Given the description of an element on the screen output the (x, y) to click on. 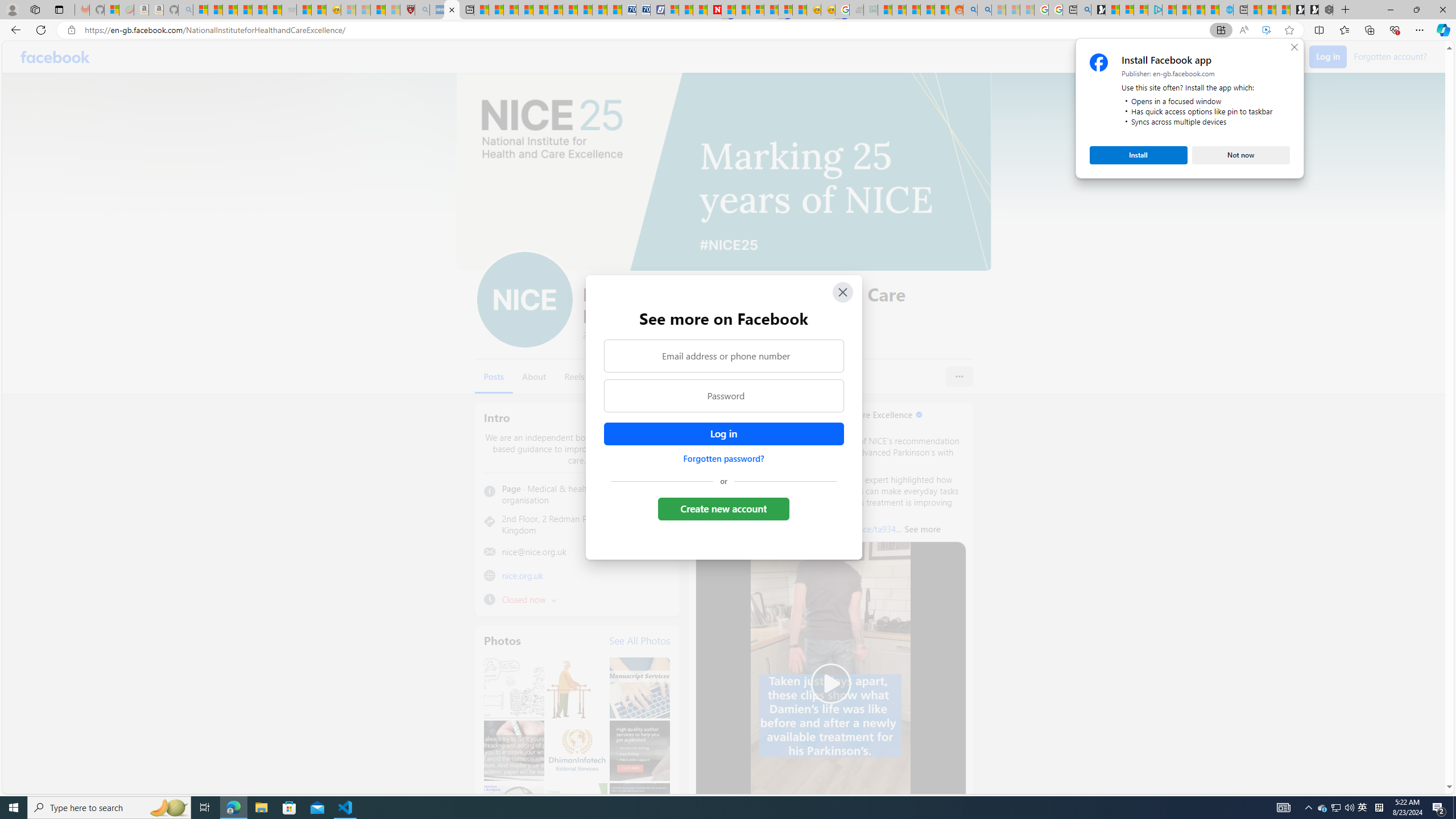
Search highlights icon opens search home window (167, 807)
The Weather Channel - MSN (229, 9)
DITOGAMES AG Imprint - Sleeping (870, 9)
Not now (1241, 154)
Newsweek - News, Analysis, Politics, Business, Technology (713, 9)
